Given the description of an element on the screen output the (x, y) to click on. 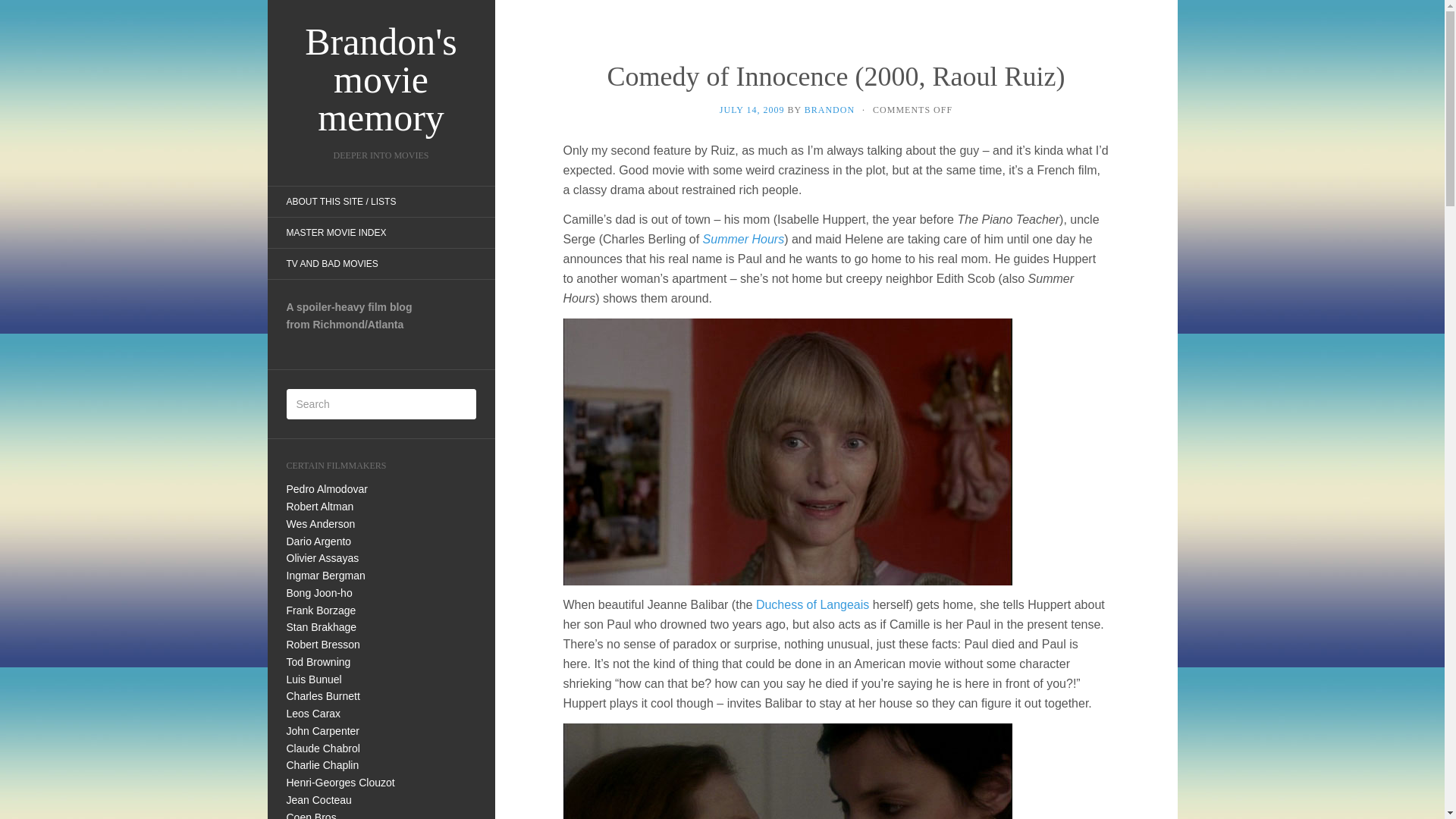
Charles Burnett (322, 695)
Dario Argento (319, 541)
Robert Altman (319, 506)
Charlie Chaplin (322, 765)
John Carpenter (322, 730)
Brandon's movie memory (380, 79)
Henri-Georges Clouzot (340, 782)
Tod Browning (318, 662)
Olivier Assayas (322, 558)
Bong Joon-ho (319, 592)
Luis Bunuel (314, 679)
Brandon's movie memory (380, 79)
Stan Brakhage (321, 626)
Wes Anderson (320, 523)
Ingmar Bergman (325, 575)
